Given the description of an element on the screen output the (x, y) to click on. 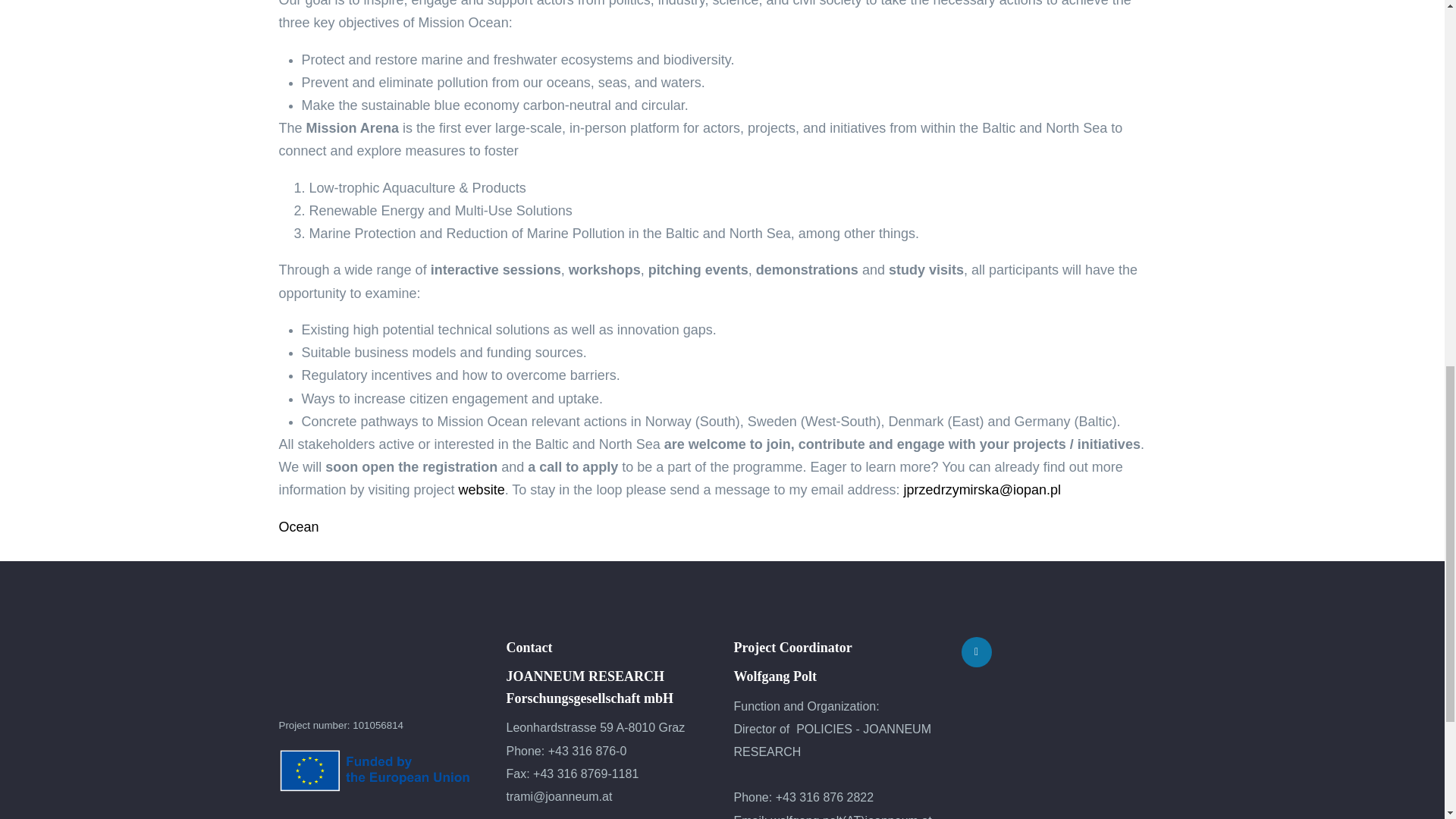
website (481, 489)
Ocean (298, 526)
